Given the description of an element on the screen output the (x, y) to click on. 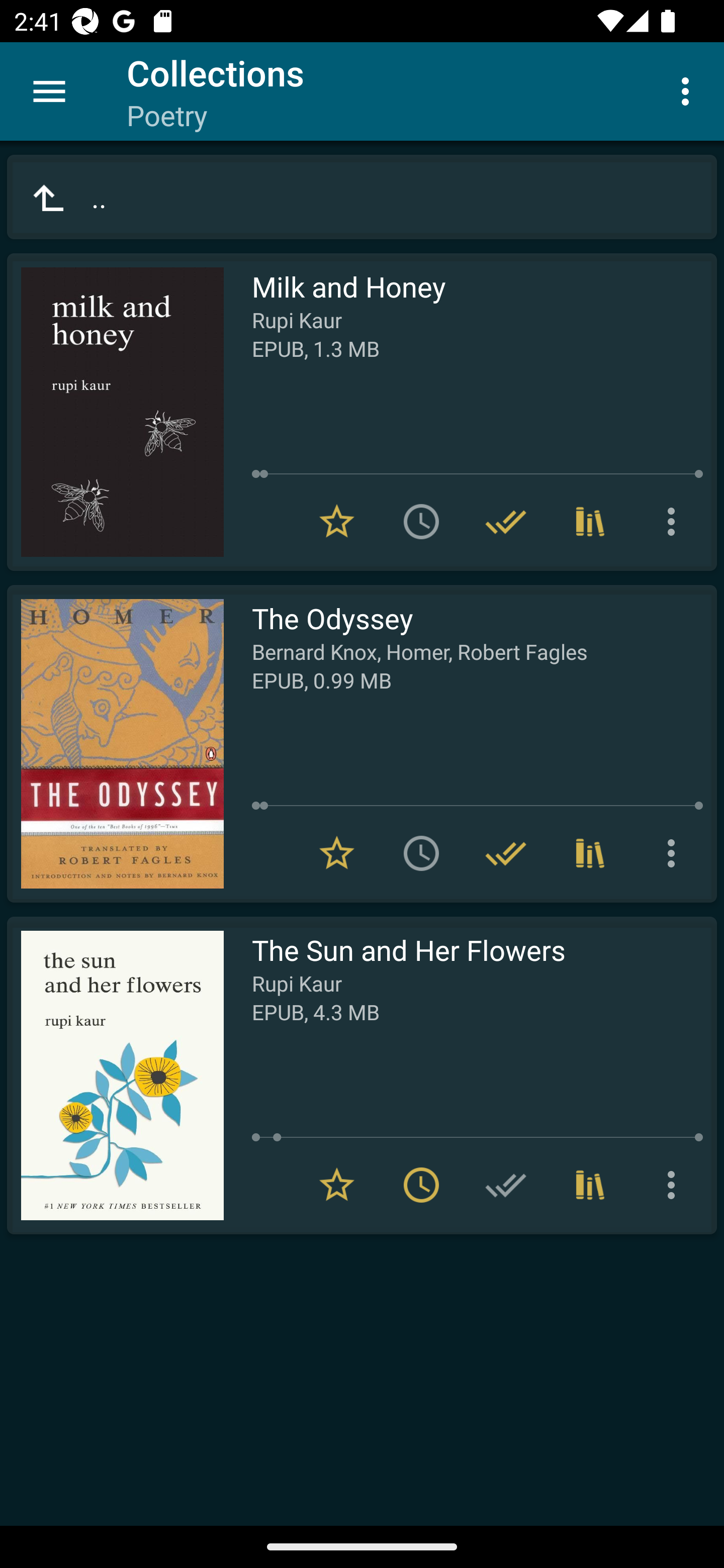
Menu (49, 91)
More options (688, 90)
.. (361, 197)
Read Milk and Honey (115, 412)
Remove from Favorites (336, 521)
Add to To read (421, 521)
Remove from Have read (505, 521)
Collections (4) (590, 521)
More options (674, 521)
Read The Odyssey (115, 743)
Remove from Favorites (336, 852)
Add to To read (421, 852)
Remove from Have read (505, 852)
Collections (3) (590, 852)
More options (674, 852)
Read The Sun and Her Flowers (115, 1075)
Remove from Favorites (336, 1185)
Remove from To read (421, 1185)
Add to Have read (505, 1185)
Collections (1) (590, 1185)
More options (674, 1185)
